Given the description of an element on the screen output the (x, y) to click on. 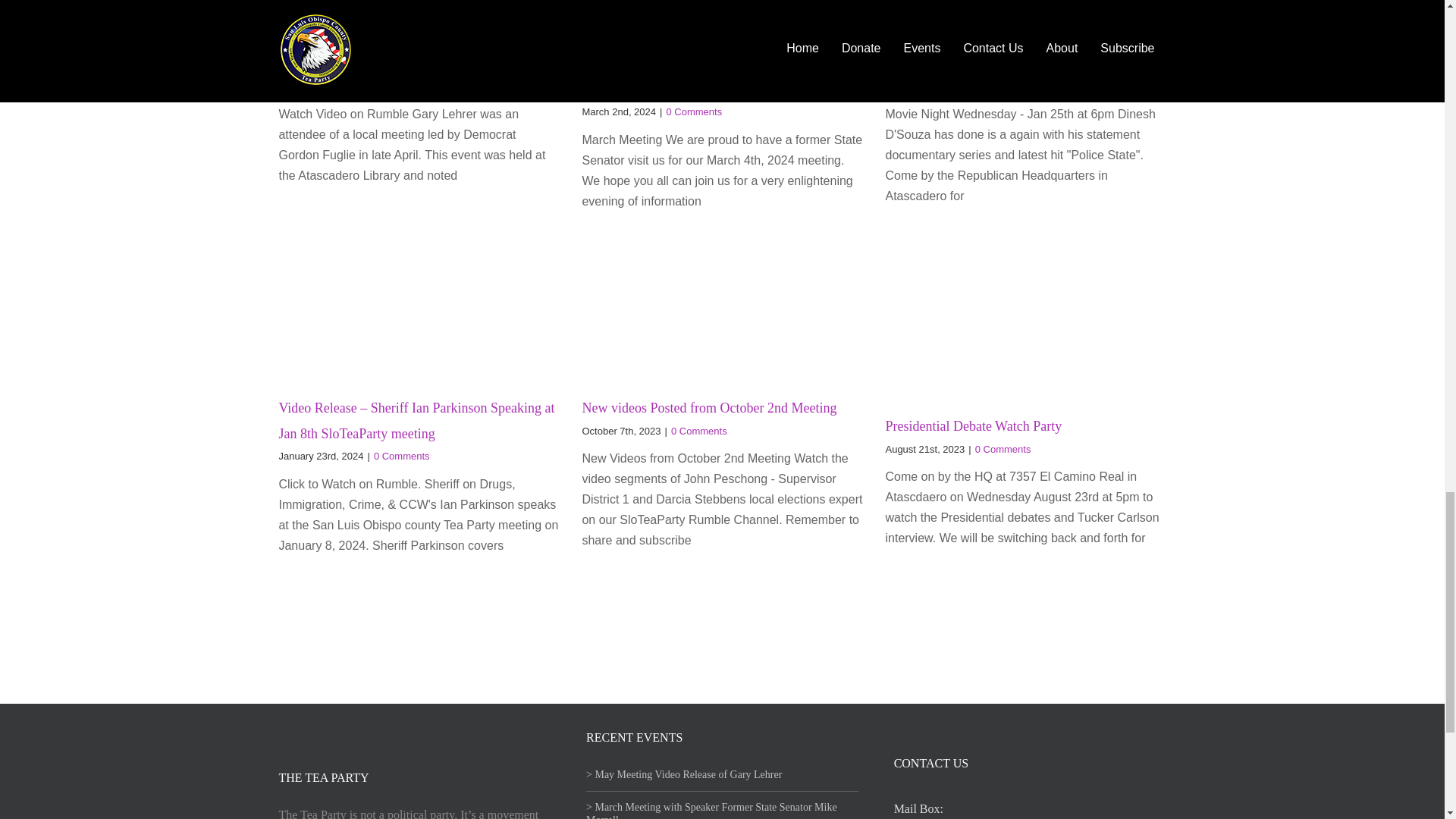
March Meeting with Speaker Former State Senator Mike Morrell (720, 76)
May Meeting Video Release of Gary Lehrer (398, 63)
0 Comments (384, 86)
0 Comments (698, 430)
0 Comments (401, 455)
0 Comments (1007, 86)
New videos Posted from October 2nd Meeting (707, 407)
0 Comments (693, 111)
0 Comments (1002, 449)
Presidential Debate Watch Party (973, 426)
